Given the description of an element on the screen output the (x, y) to click on. 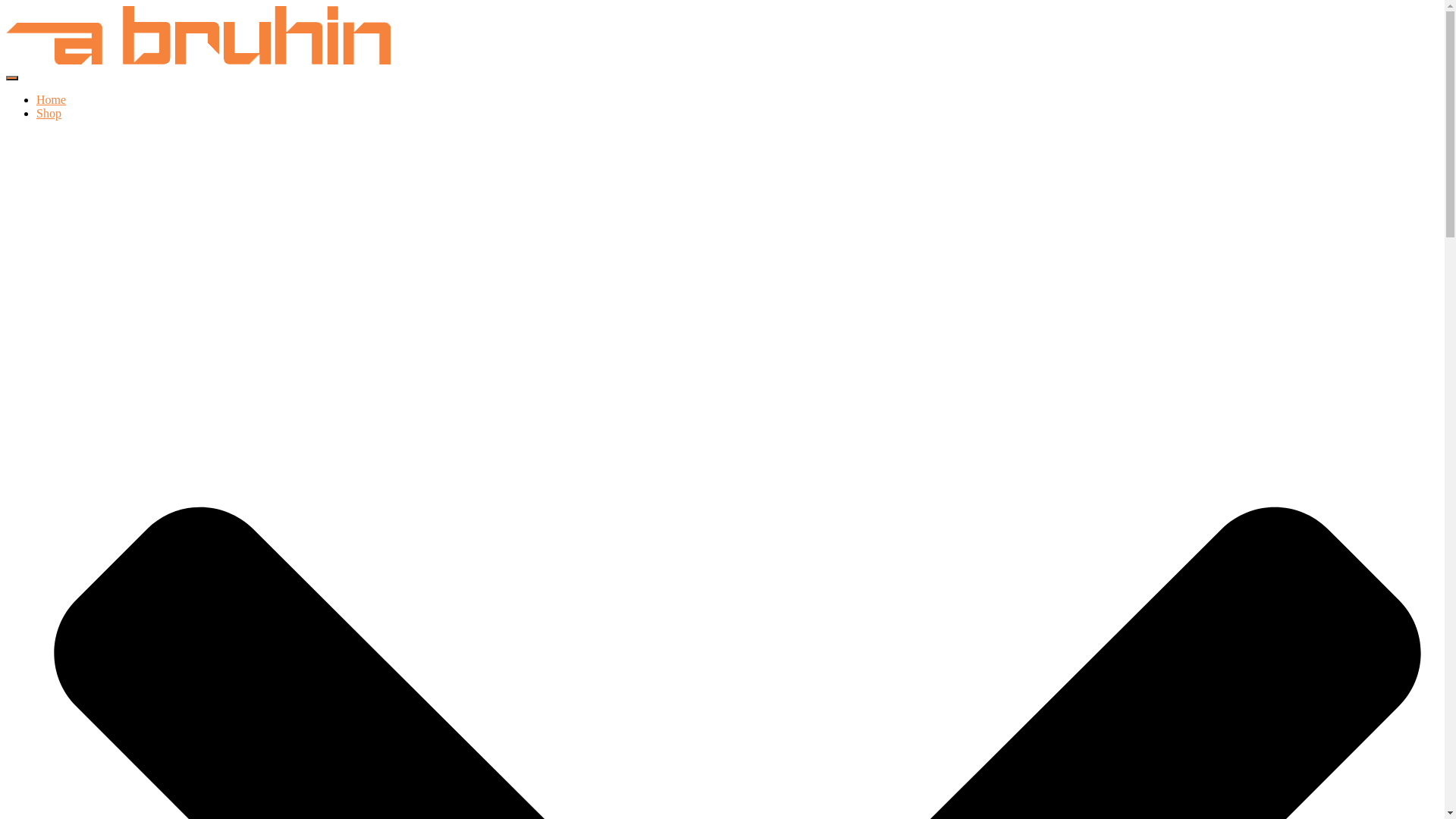
Navigation umschalten Element type: text (12, 77)
Warenkorb Element type: text (1411, 24)
Home Element type: text (50, 99)
Login Element type: text (1398, 37)
A. Bruhin AG Element type: hover (198, 59)
